Given the description of an element on the screen output the (x, y) to click on. 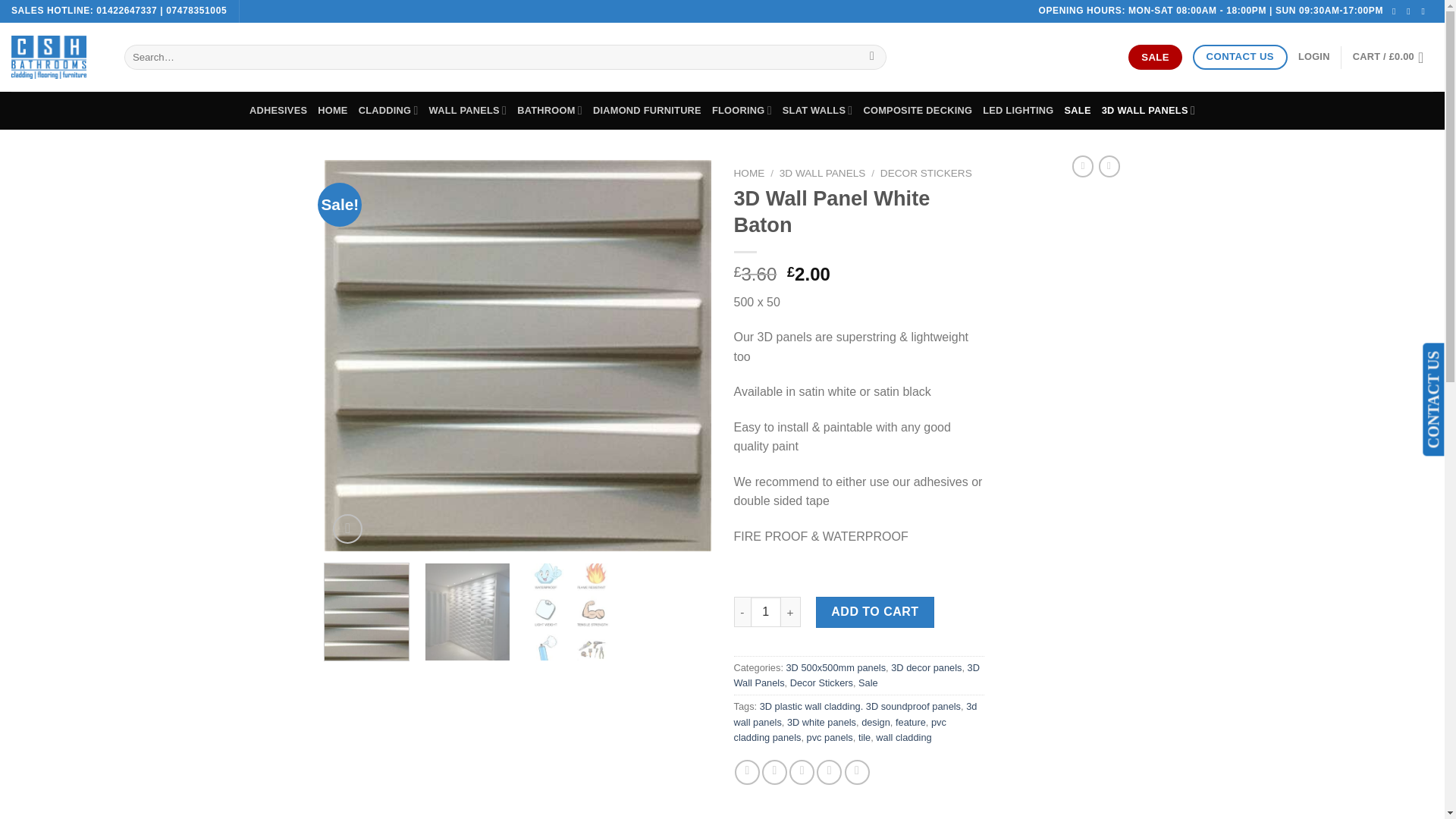
WALL PANELS (467, 110)
Share on Twitter (774, 772)
1 (765, 612)
SLAT WALLS (818, 110)
CONTACT US (1239, 57)
Pin on Pinterest (828, 772)
CLADDING (388, 110)
FLOORING (741, 110)
Share on Facebook (747, 772)
ADHESIVES (277, 110)
Zoom (347, 528)
Email to a Friend (801, 772)
Share on LinkedIn (856, 772)
DIAMOND FURNITURE (646, 110)
BATHROOM (549, 110)
